Given the description of an element on the screen output the (x, y) to click on. 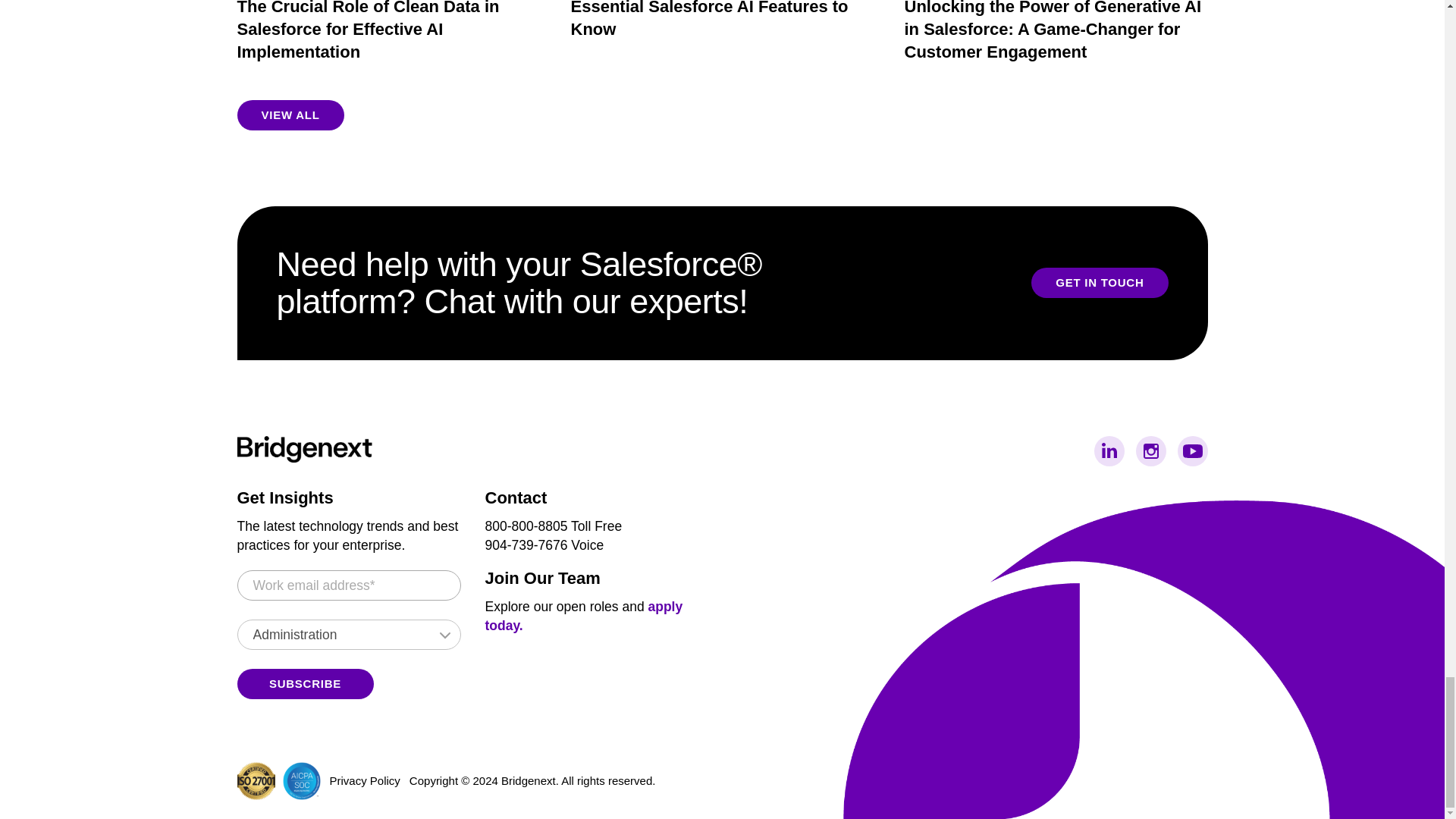
SUBSCRIBE (303, 684)
